Given the description of an element on the screen output the (x, y) to click on. 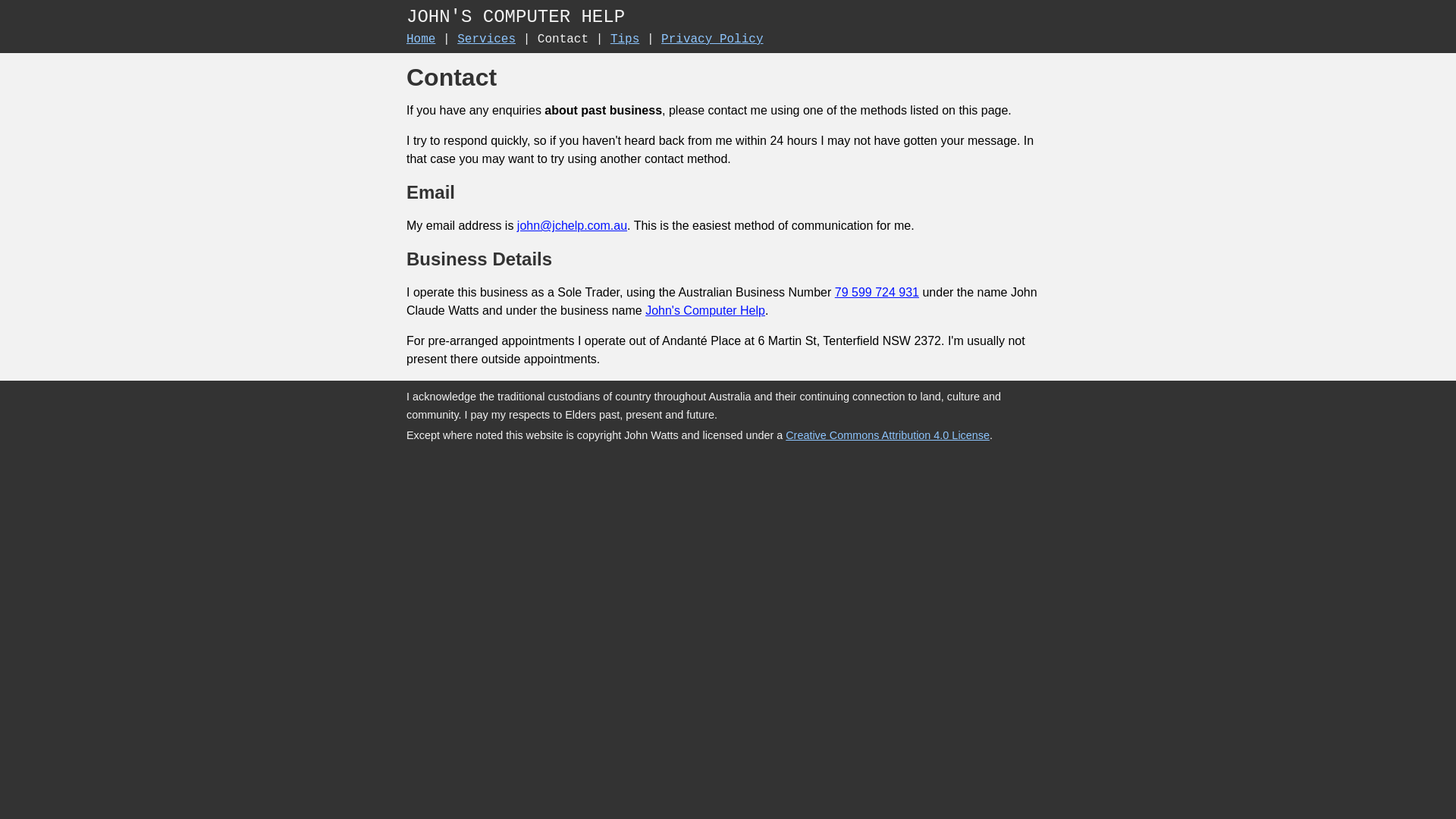
Tips Element type: text (624, 39)
john@jchelp.com.au Element type: text (572, 225)
Home Element type: text (420, 39)
John's Computer Help Element type: text (705, 310)
Privacy Policy Element type: text (711, 39)
Services Element type: text (486, 39)
79 599 724 931 Element type: text (876, 291)
Creative Commons Attribution 4.0 License Element type: text (887, 435)
